Given the description of an element on the screen output the (x, y) to click on. 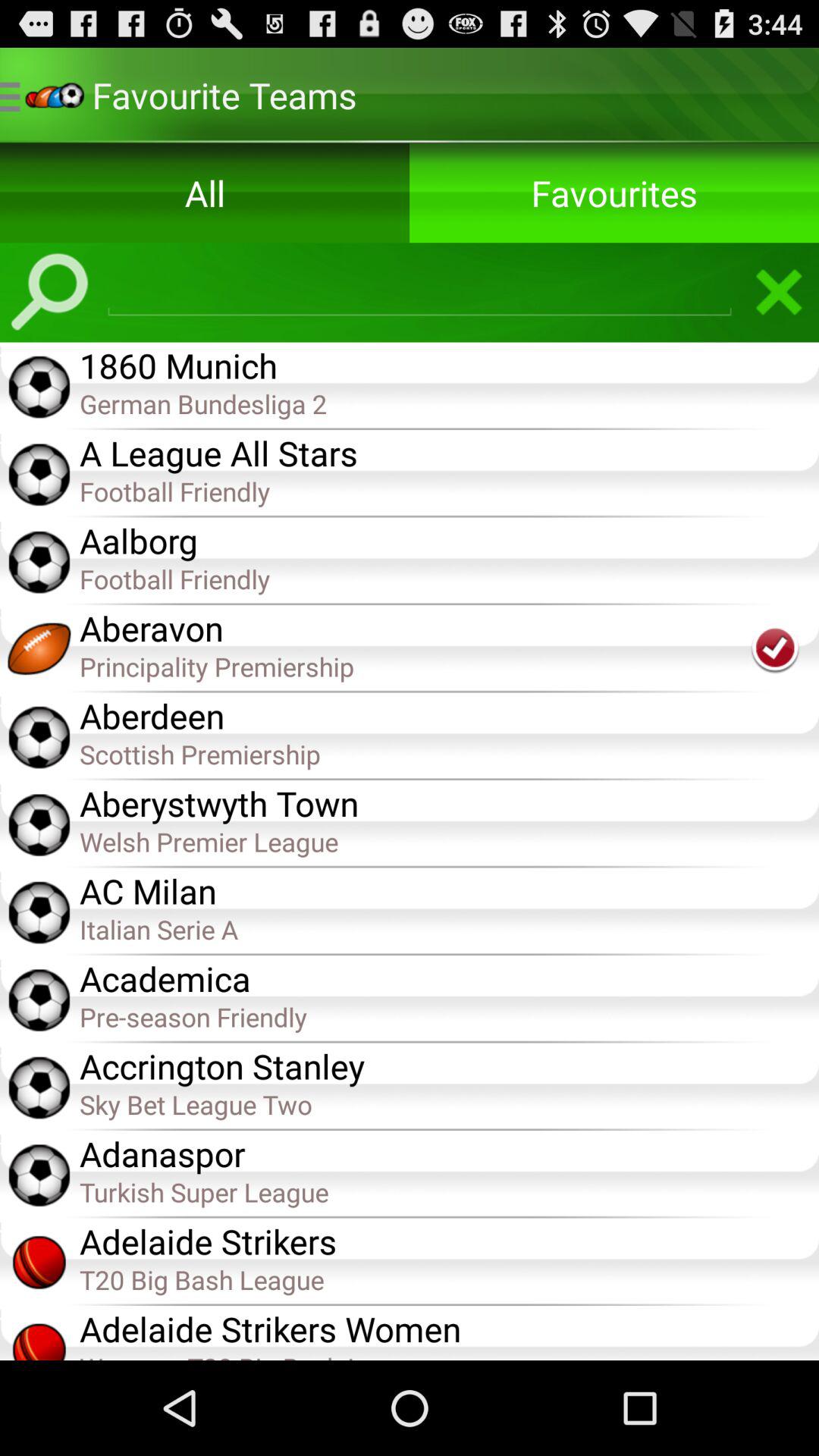
launch the italian serie a item (449, 928)
